Given the description of an element on the screen output the (x, y) to click on. 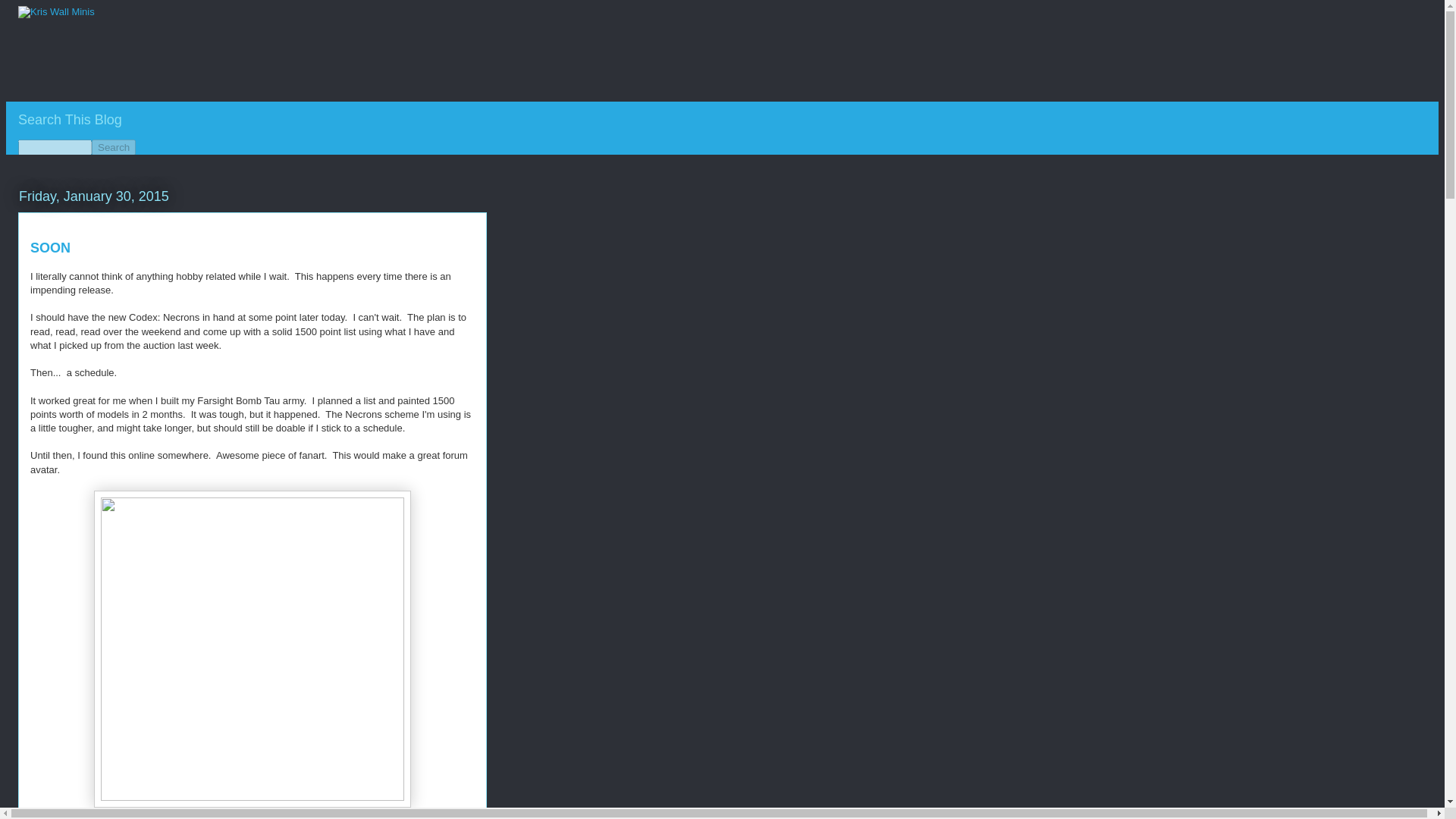
search (113, 147)
Search (113, 147)
Search (113, 147)
Search (113, 147)
search (54, 147)
